Given the description of an element on the screen output the (x, y) to click on. 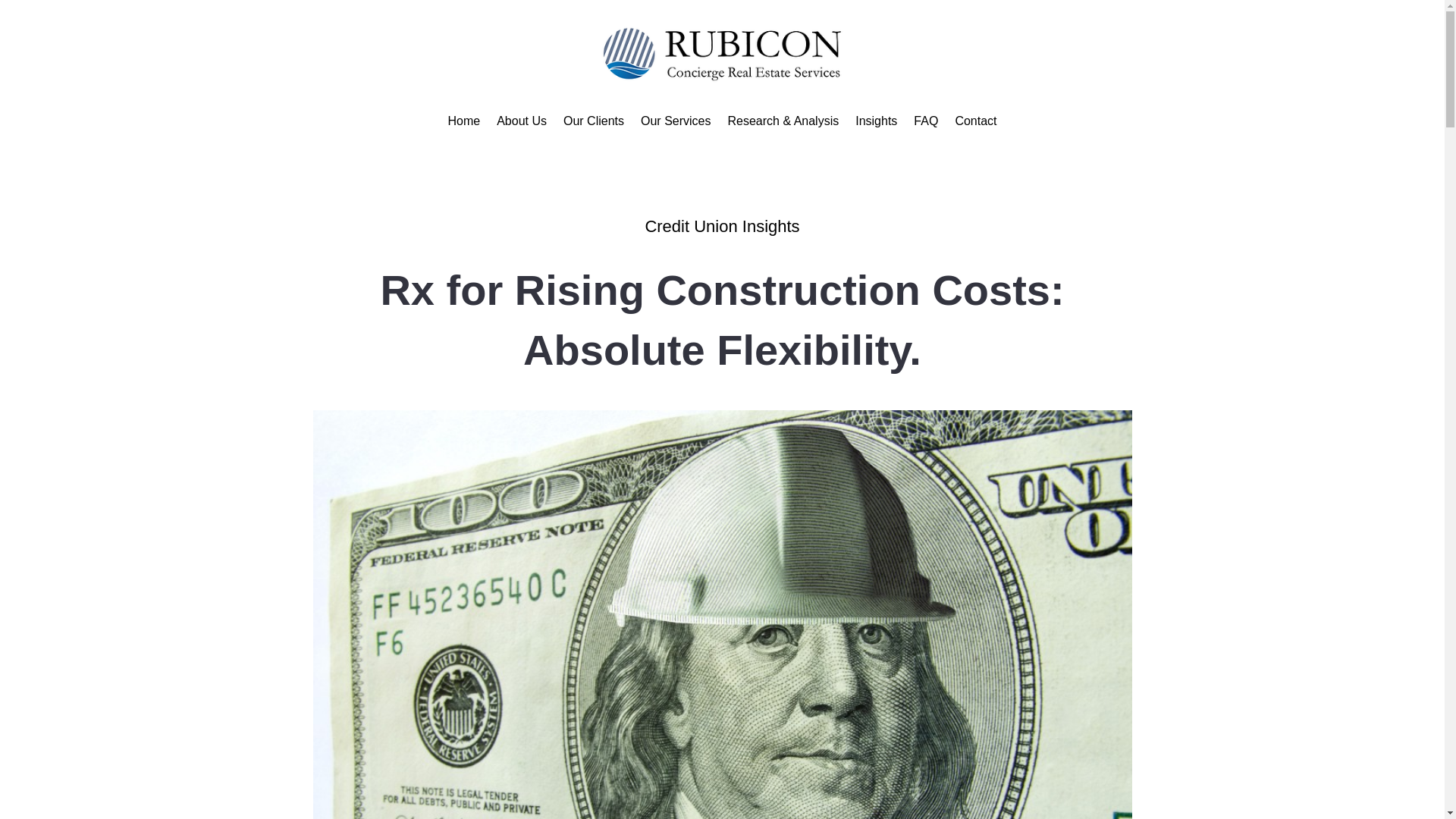
Our Services (675, 124)
Insights (876, 124)
Contact (975, 124)
Credit Union Insights (722, 226)
FAQ (925, 124)
About Us (521, 124)
Our Clients (593, 124)
Rubicon Logo (721, 53)
Home (463, 124)
